Given the description of an element on the screen output the (x, y) to click on. 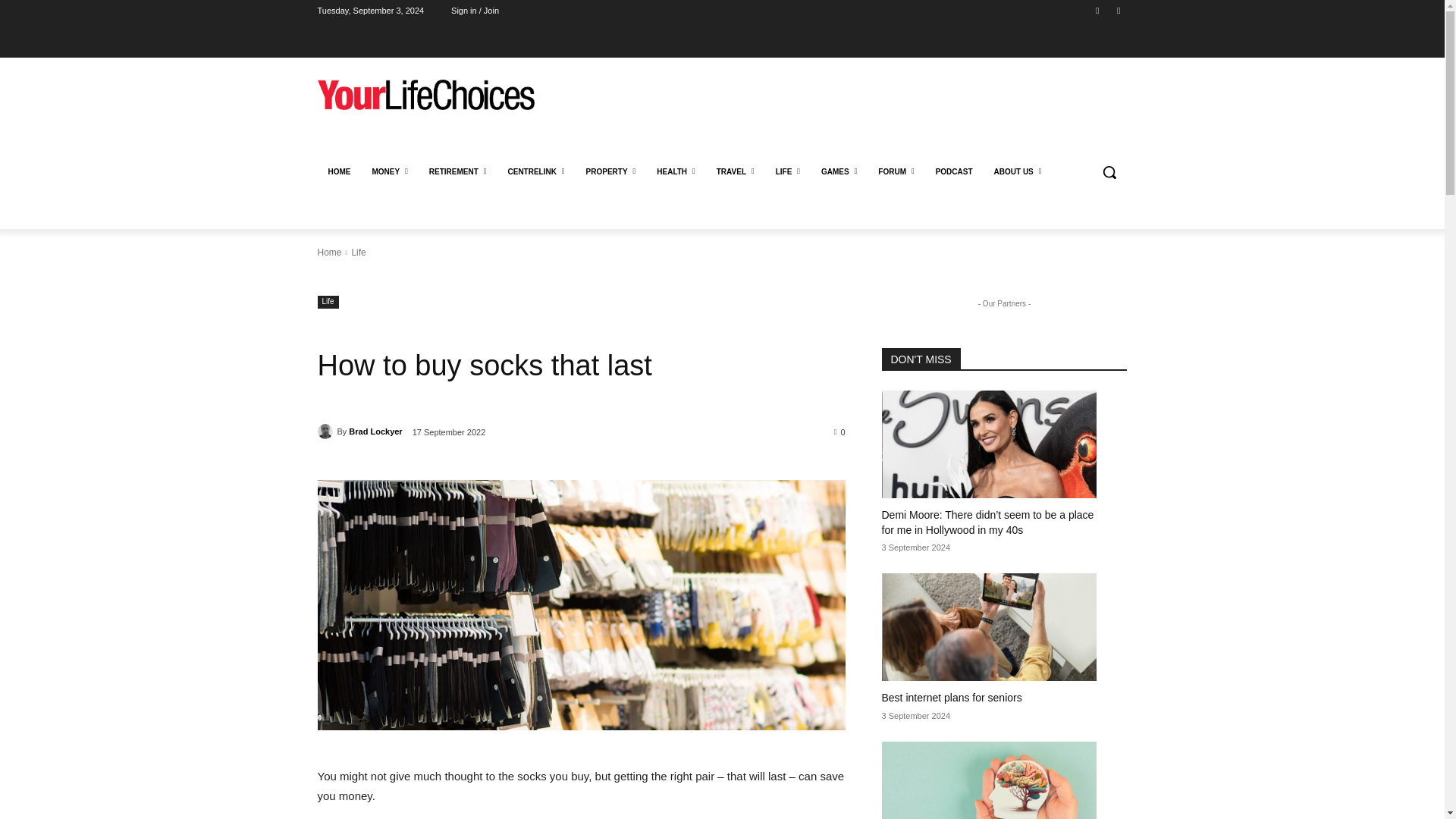
View all posts in Life (357, 252)
Best internet plans for seniors (988, 626)
Brad Lockyer (326, 431)
Facebook (1097, 9)
Twitter (1117, 9)
